Given the description of an element on the screen output the (x, y) to click on. 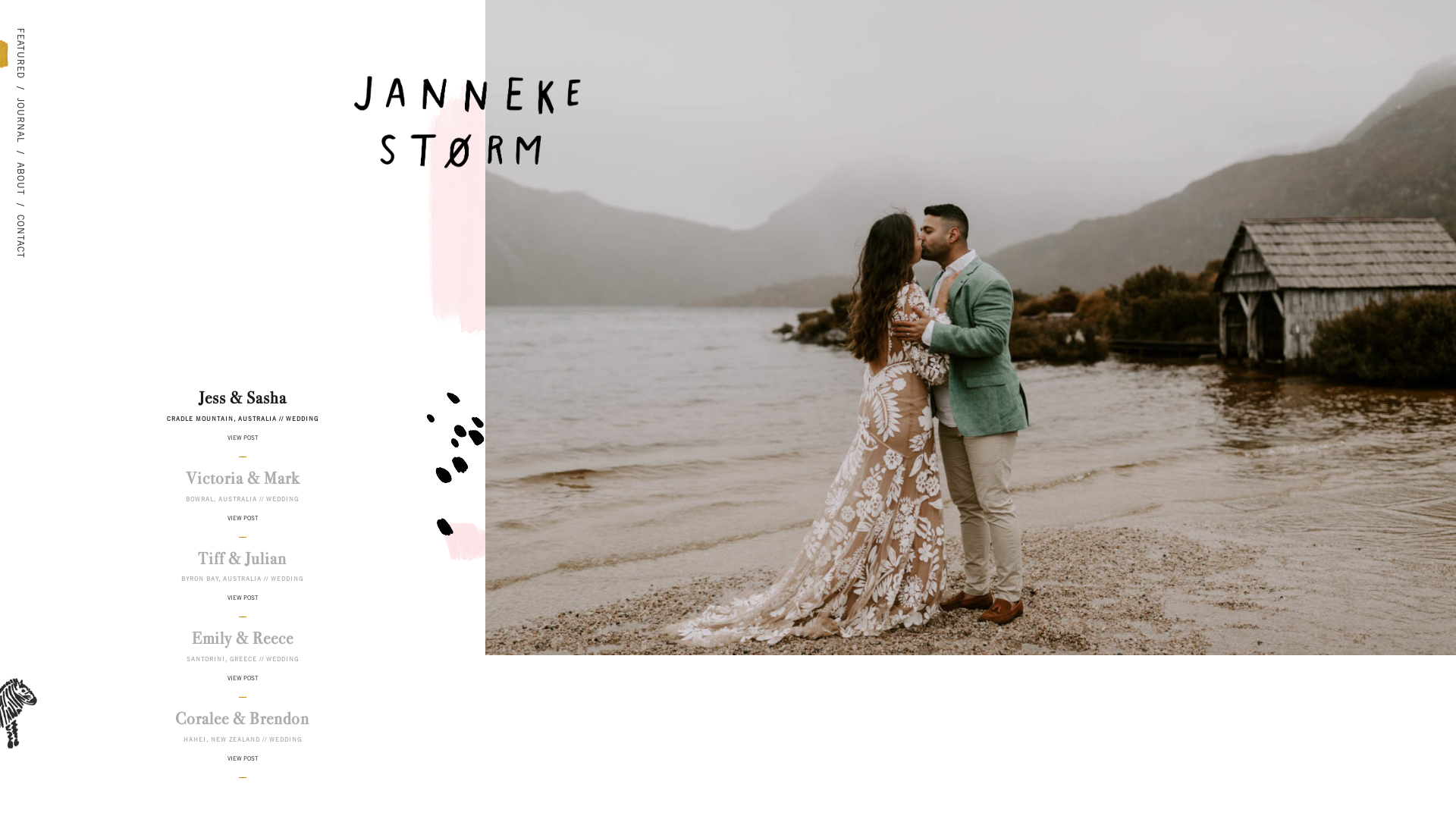
Jess & Sasha
CRADLE MOUNTAIN, AUSTRALIA // WEDDING Element type: text (242, 405)
Tiff & Julian
BYRON BAY, AUSTRALIA // WEDDING Element type: text (242, 566)
JOURNAL Element type: text (22, 111)
VIEW POST Element type: text (242, 525)
CONTACT Element type: text (21, 227)
VIEW POST Element type: text (242, 685)
VIEW POST Element type: text (242, 445)
Coralee & Brendon
HAHEI, NEW ZEALAND // WEDDING Element type: text (242, 726)
Victoria & Mark
BOWRAL, AUSTRALIA // WEDDING Element type: text (242, 485)
ABOUT Element type: text (16, 175)
VIEW POST Element type: text (242, 605)
FEATURED Element type: text (25, 41)
Emily & Reece
SANTORINI, GREECE // WEDDING Element type: text (242, 645)
VIEW POST Element type: text (242, 766)
